Given the description of an element on the screen output the (x, y) to click on. 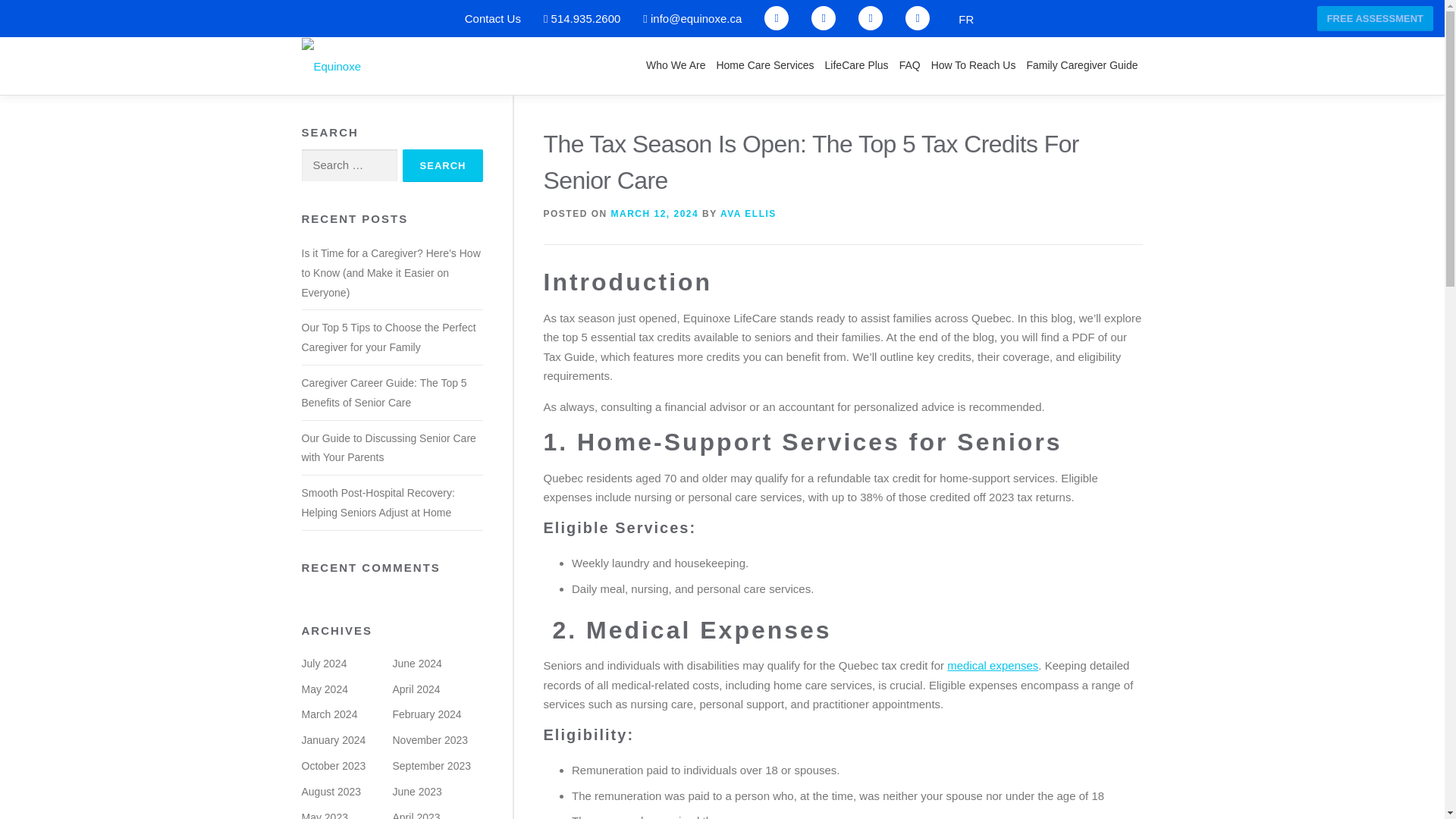
FR (966, 18)
medical expenses (992, 665)
Search (443, 165)
How To Reach Us (973, 65)
AVA ELLIS (748, 213)
FAQ (909, 65)
FREE ASSESSMENT (1374, 18)
LifeCare Plus (856, 65)
Who We Are (675, 65)
Family Caregiver Guide (1081, 65)
MARCH 12, 2024 (654, 213)
FREE ASSESSMENT (1375, 18)
Search (443, 165)
514.935.2600 (581, 18)
